Given the description of an element on the screen output the (x, y) to click on. 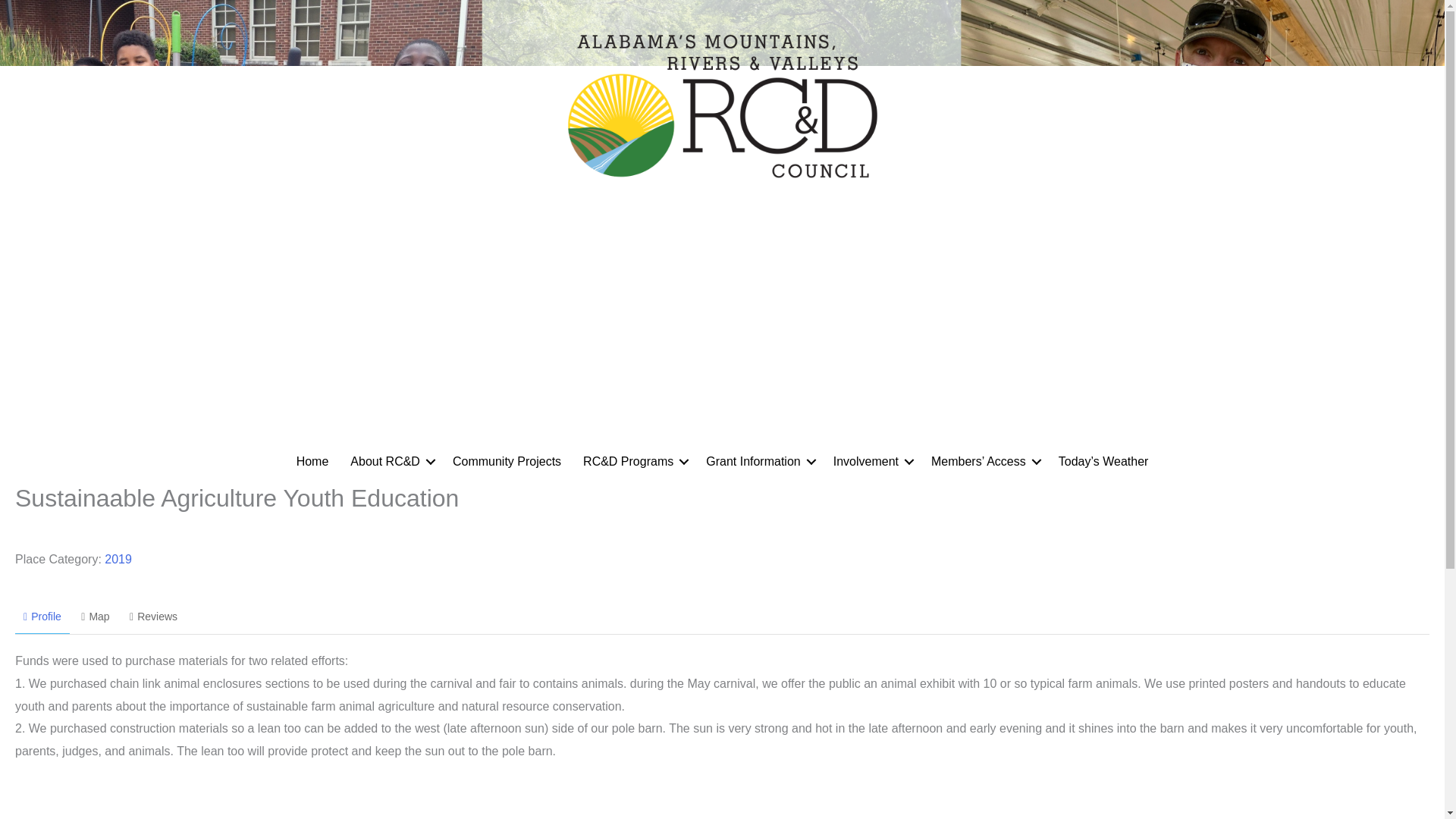
Grant Information (758, 461)
Home (312, 461)
Community Projects (507, 461)
2019 (118, 558)
Reviews (153, 617)
Involvement (871, 461)
Map (94, 617)
Profile (41, 617)
alabamamountainsriversvalleys png (721, 103)
